Given the description of an element on the screen output the (x, y) to click on. 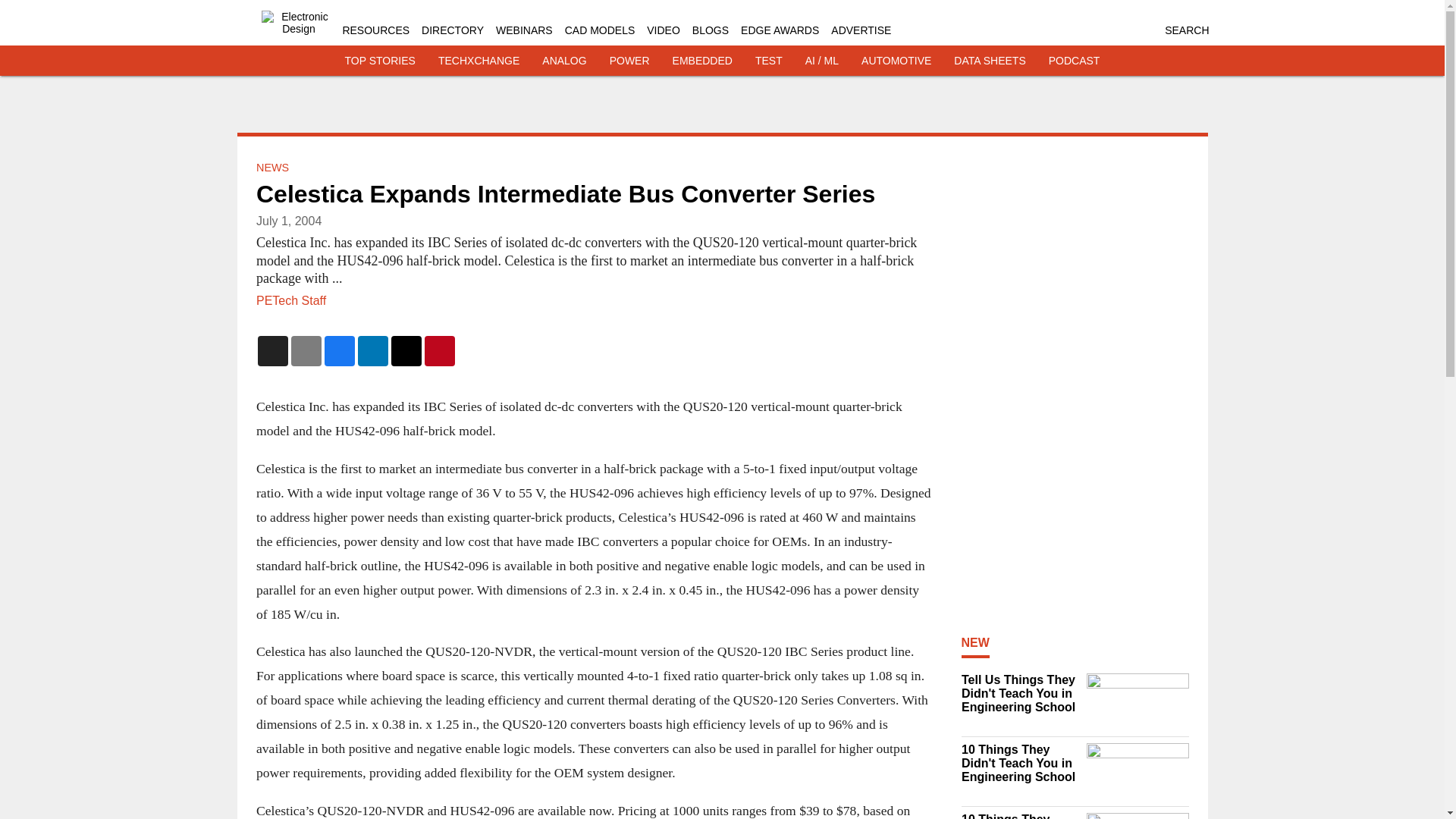
TECHXCHANGE (478, 60)
VIDEO (662, 30)
10 Things They Didn't Teach You in Engineering School (1019, 762)
PETech Staff (291, 300)
NEWS (272, 167)
ADVERTISE (861, 30)
WEBINARS (524, 30)
SEARCH (1186, 30)
AUTOMOTIVE (896, 60)
ANALOG (563, 60)
CAD MODELS (599, 30)
PODCAST (1074, 60)
RESOURCES (375, 30)
Tell Us Things They Didn't Teach You in Engineering School (1019, 693)
DATA SHEETS (989, 60)
